Given the description of an element on the screen output the (x, y) to click on. 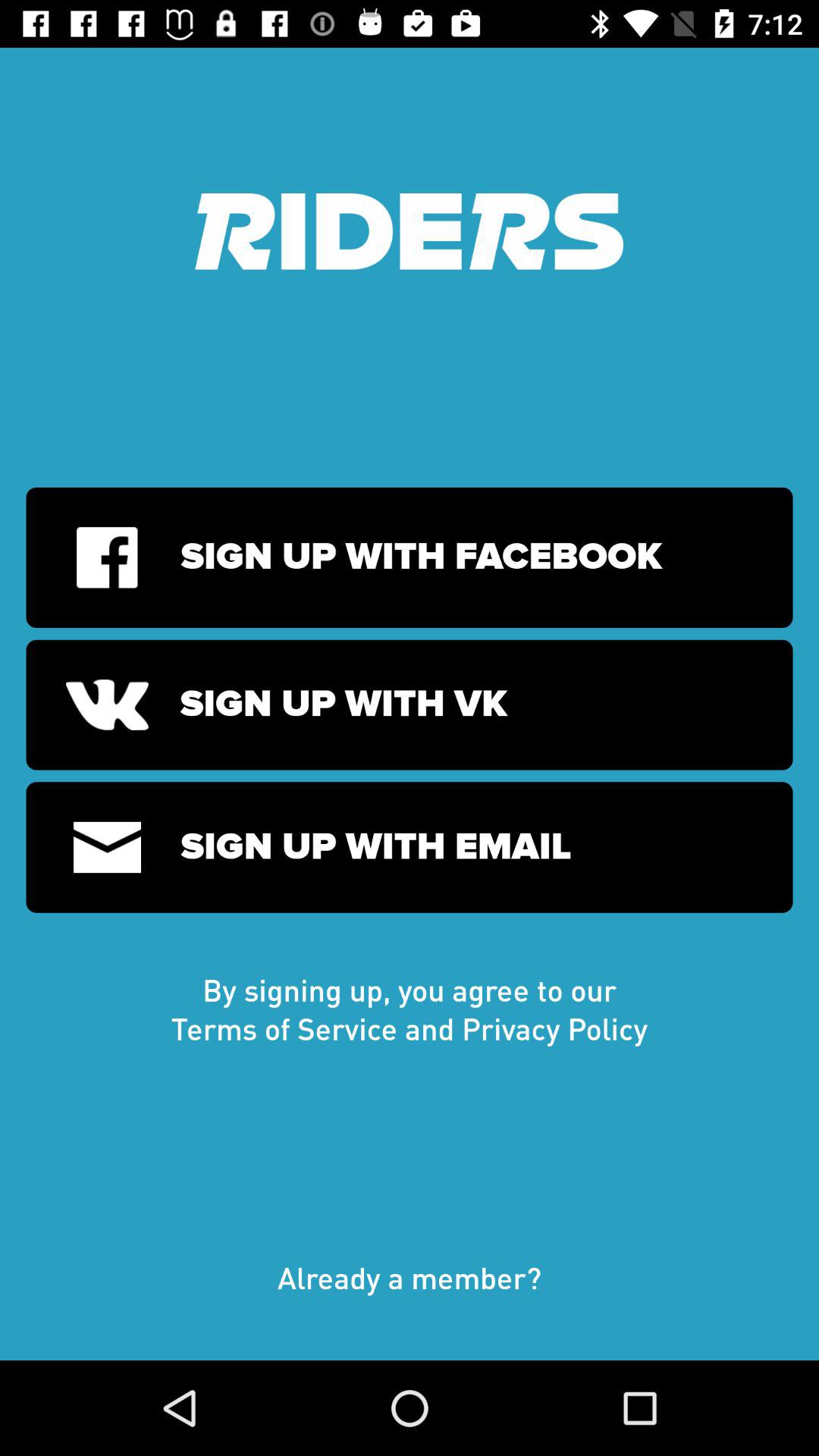
flip until by signing up icon (409, 1008)
